Given the description of an element on the screen output the (x, y) to click on. 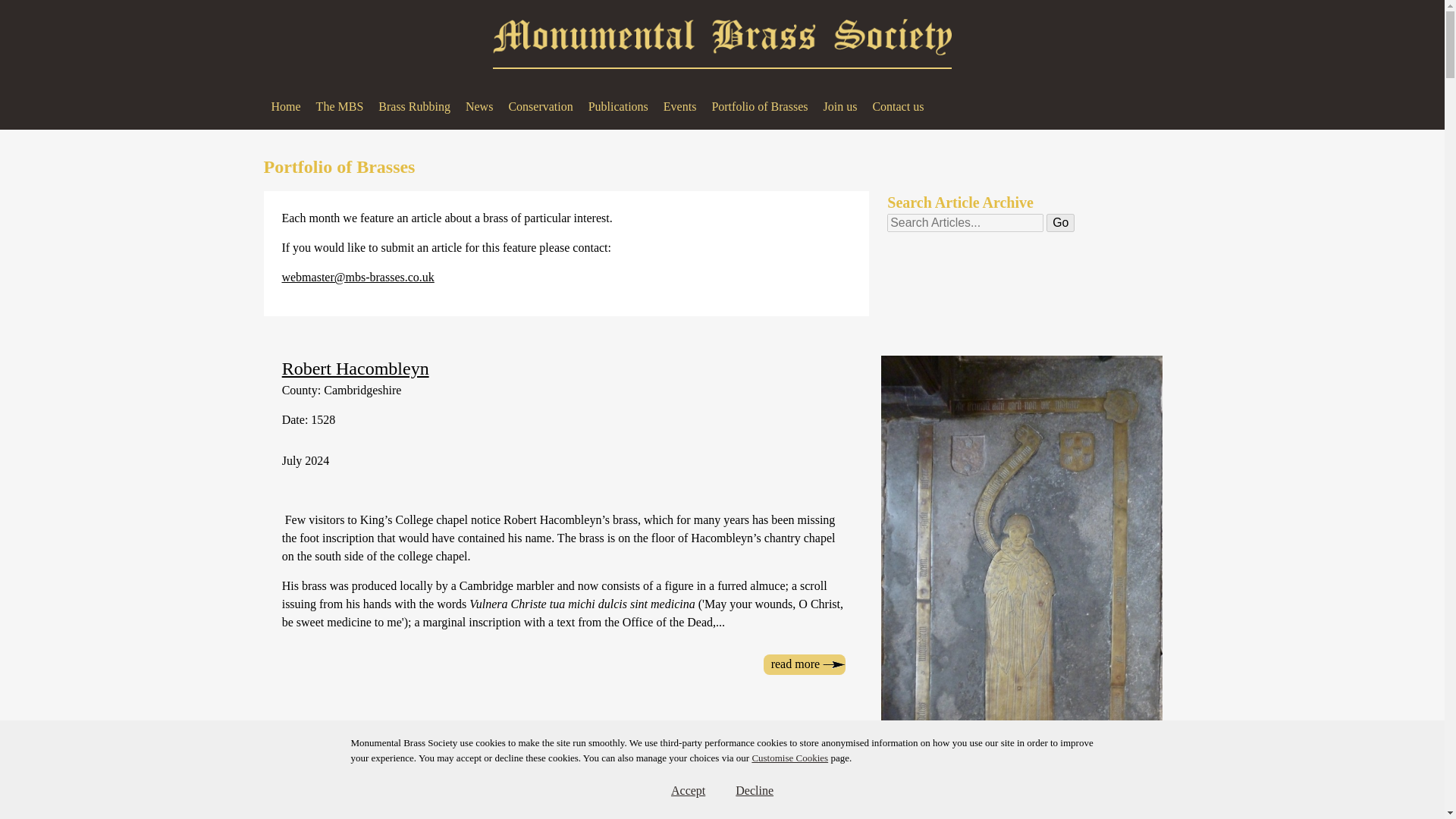
The MBS (339, 106)
Title (964, 222)
Contact us (897, 106)
Robert Hacombleyn (355, 368)
Portfolio of Brasses (759, 106)
Robert Hacombleyn (355, 368)
Home (285, 106)
News (479, 106)
Conservation (540, 106)
read more (803, 664)
Robert Hacombleyn (803, 664)
Join us (839, 106)
Publications (617, 106)
Go (1060, 222)
Brass Rubbing (413, 106)
